Given the description of an element on the screen output the (x, y) to click on. 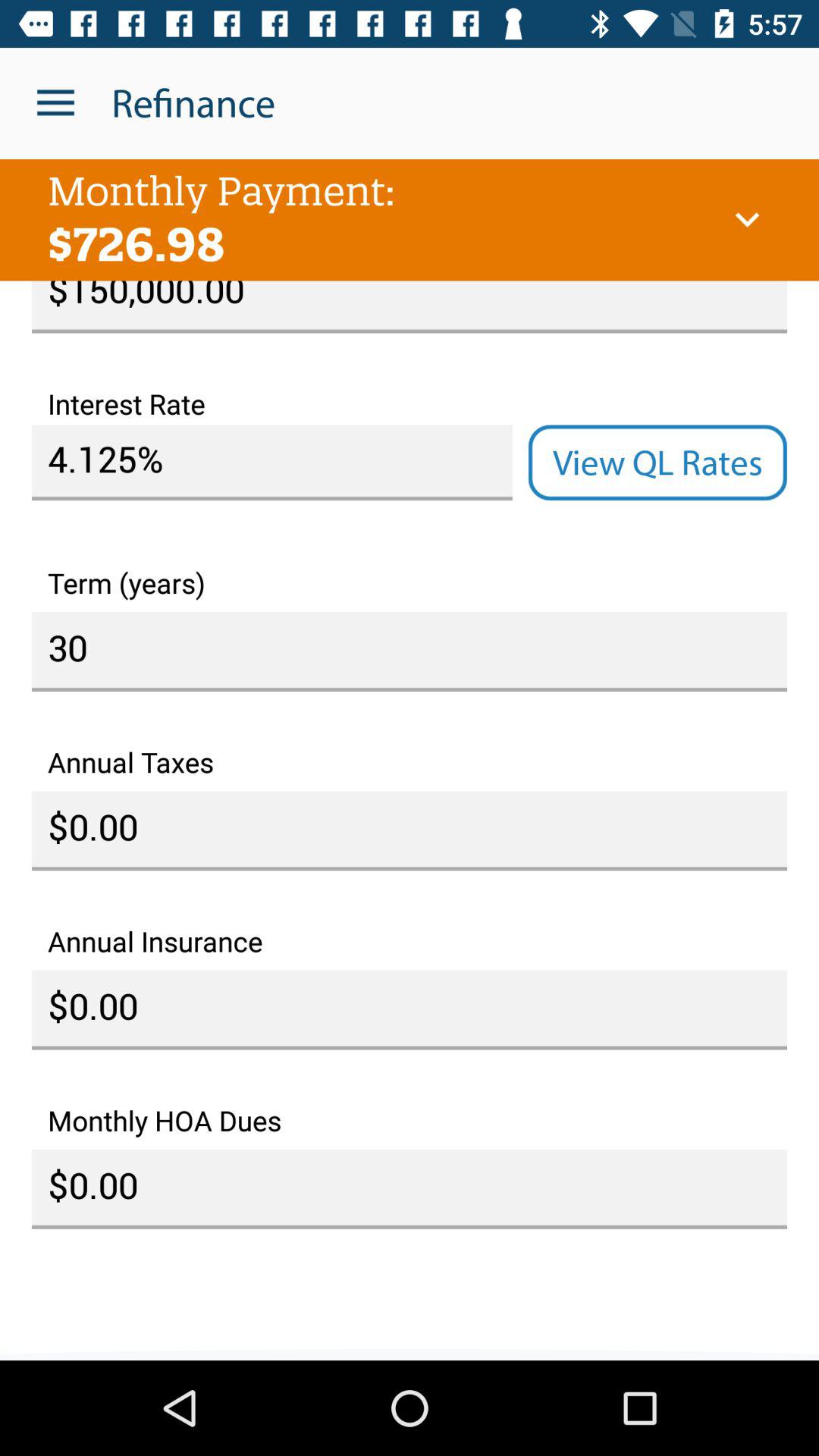
turn on the item above $150,000.00 icon (747, 219)
